Given the description of an element on the screen output the (x, y) to click on. 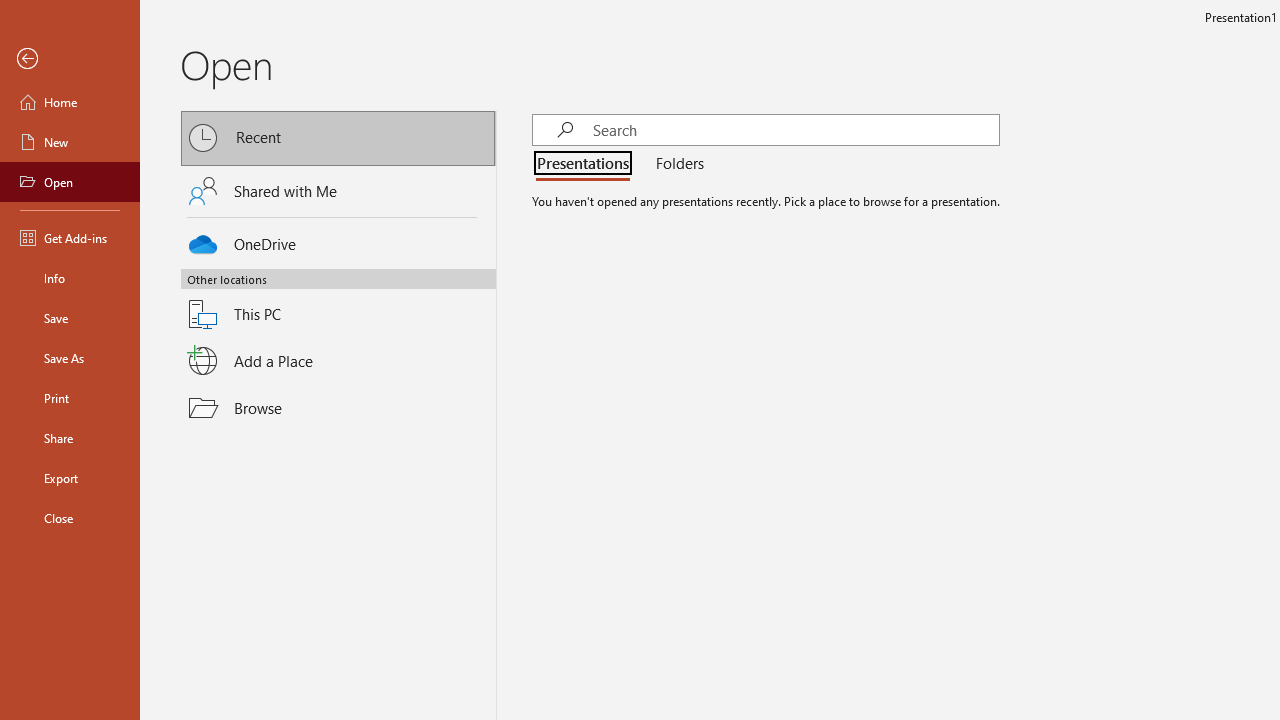
Save As (69, 357)
OneDrive (338, 240)
Info (69, 277)
Presentations (587, 164)
New (69, 141)
